Given the description of an element on the screen output the (x, y) to click on. 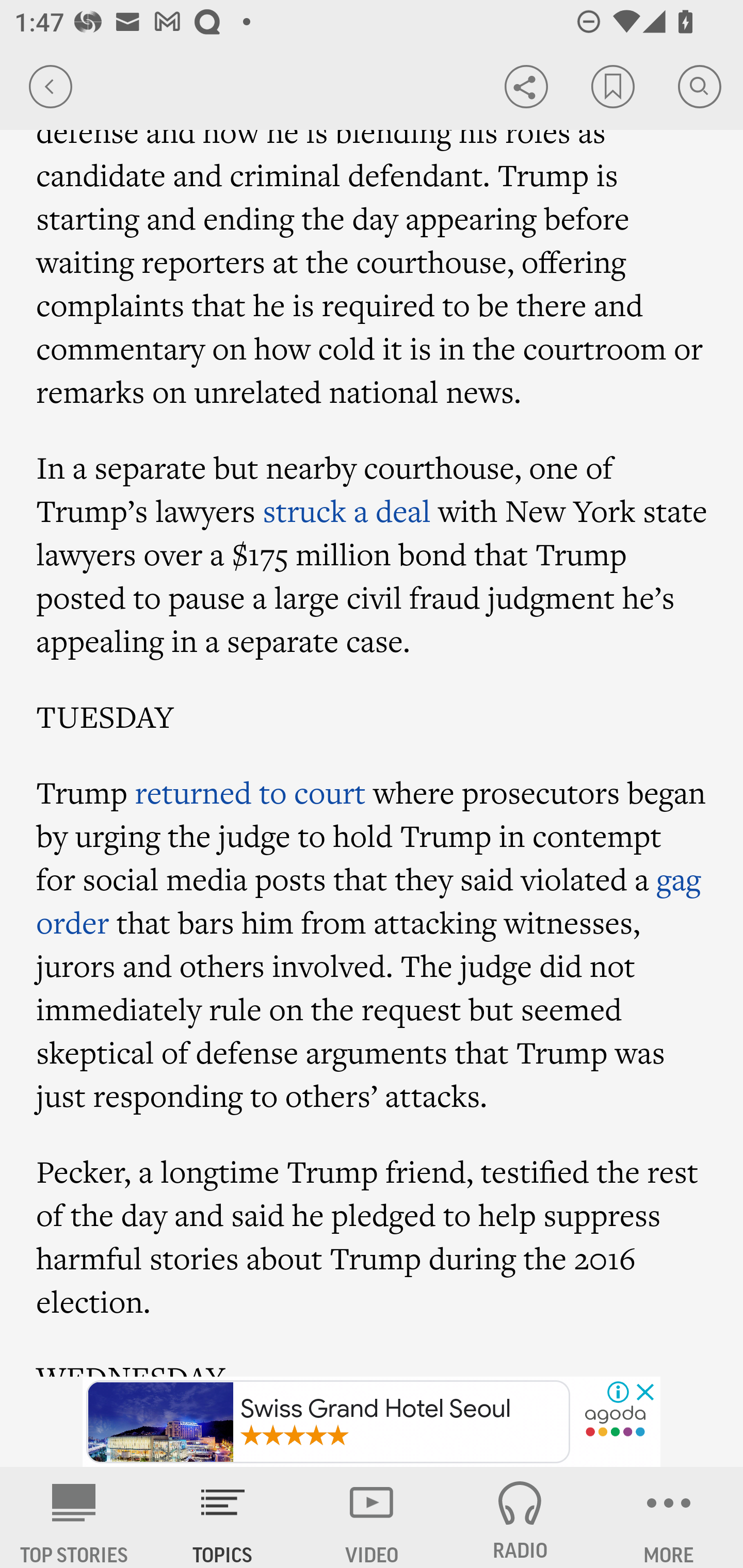
struck a deal (346, 510)
returned to court (249, 791)
gag order (369, 900)
Swiss Grand Hotel Seoul (327, 1421)
partnersearch (615, 1422)
AP News TOP STORIES (74, 1517)
TOPICS (222, 1517)
VIDEO (371, 1517)
RADIO (519, 1517)
MORE (668, 1517)
